Given the description of an element on the screen output the (x, y) to click on. 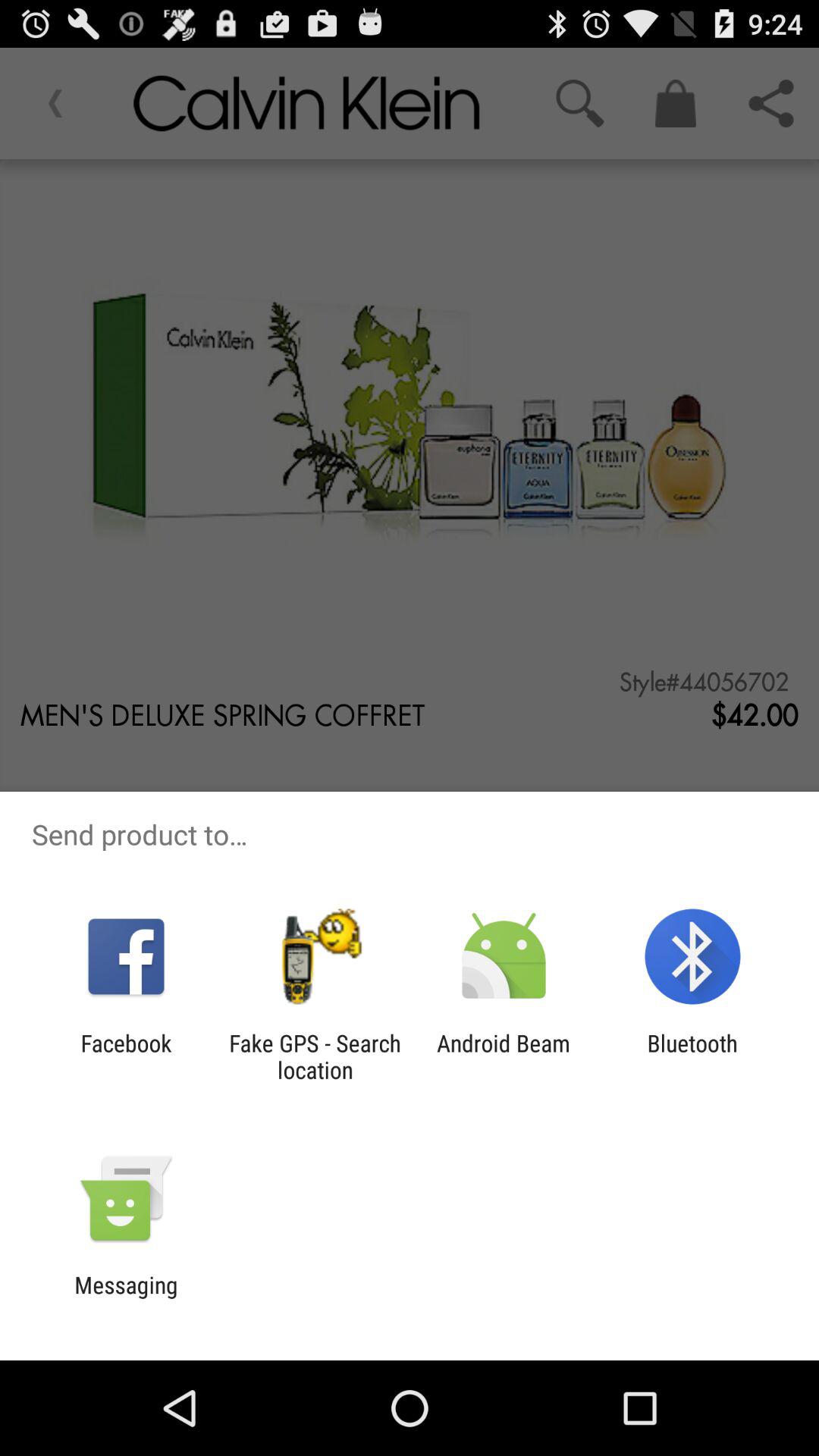
turn on item next to the fake gps search item (125, 1056)
